Given the description of an element on the screen output the (x, y) to click on. 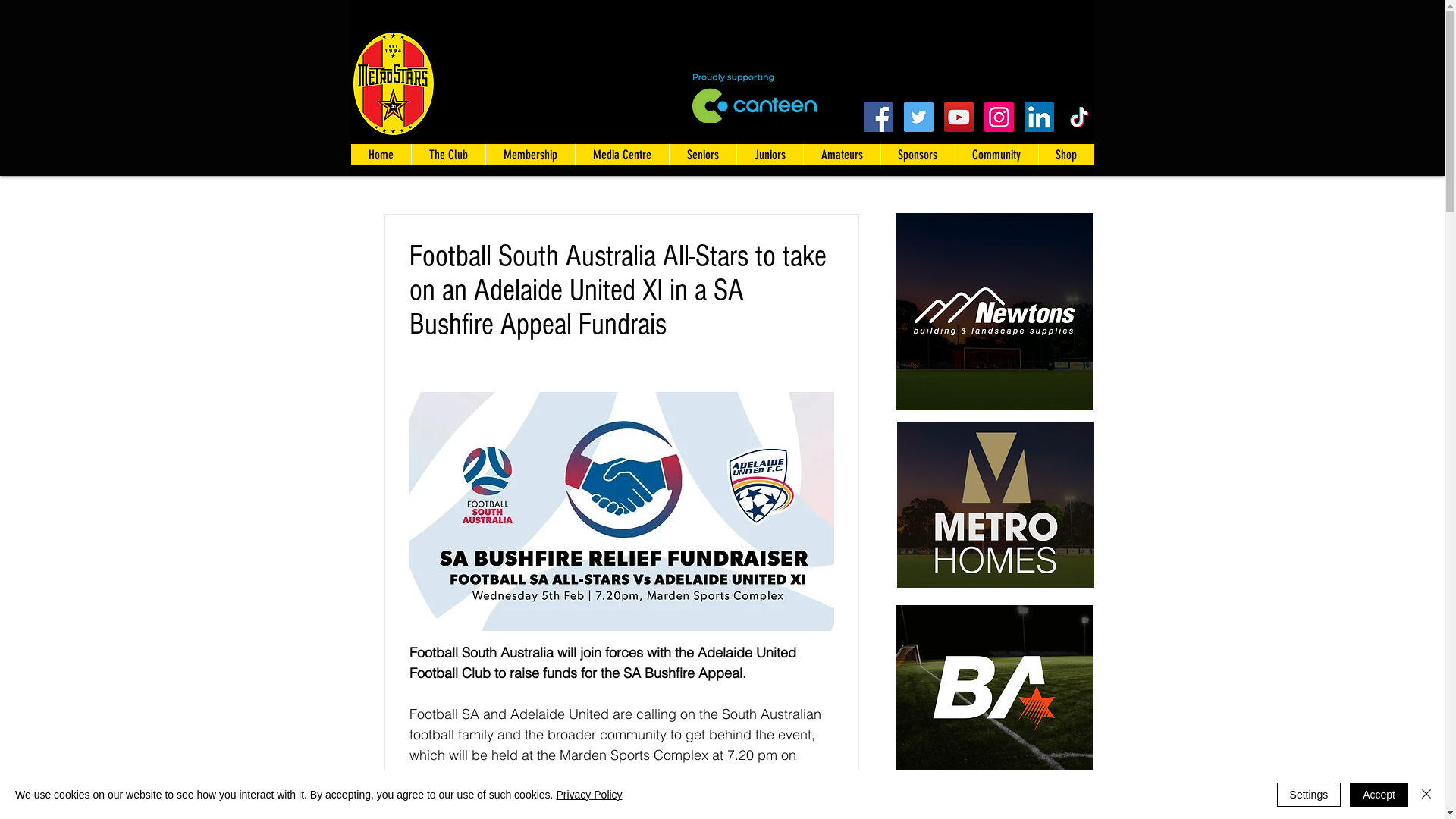
Membership Element type: text (529, 154)
Home Element type: text (380, 154)
Community Element type: text (995, 154)
Sponsors Element type: text (916, 154)
Privacy Policy Element type: text (588, 794)
Settings Element type: text (1309, 794)
Media Centre Element type: text (621, 154)
Shop Element type: text (1065, 154)
Juniors Element type: text (768, 154)
The Club Element type: text (448, 154)
Seniors Element type: text (702, 154)
Accept Element type: text (1378, 794)
Amateurs Element type: text (840, 154)
